Given the description of an element on the screen output the (x, y) to click on. 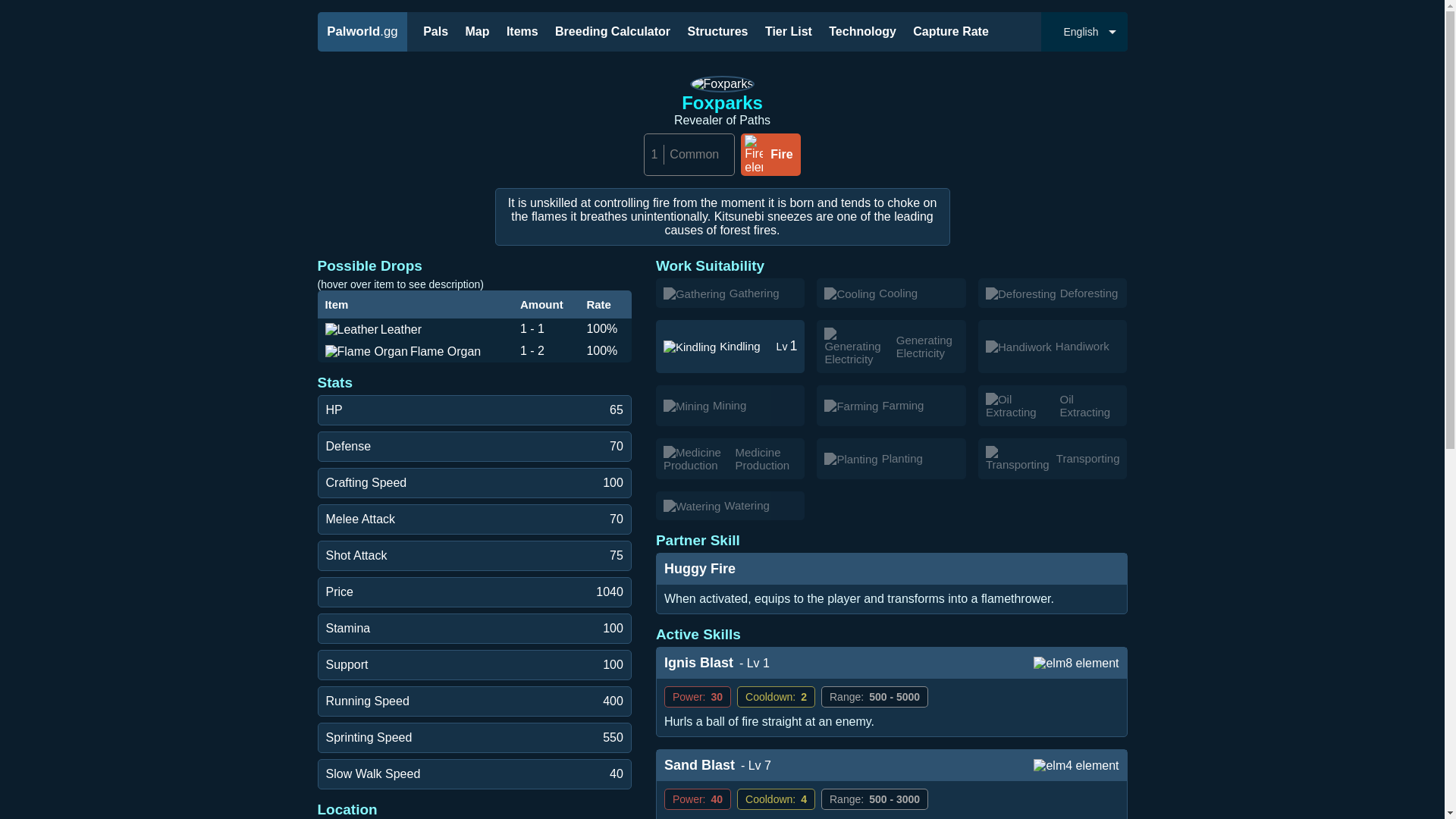
Technology (862, 31)
Map (476, 31)
Items (522, 31)
Structures (717, 31)
Pals (435, 31)
Tier List (788, 31)
Breeding Calculator (362, 31)
Capture Rate (612, 31)
